Given the description of an element on the screen output the (x, y) to click on. 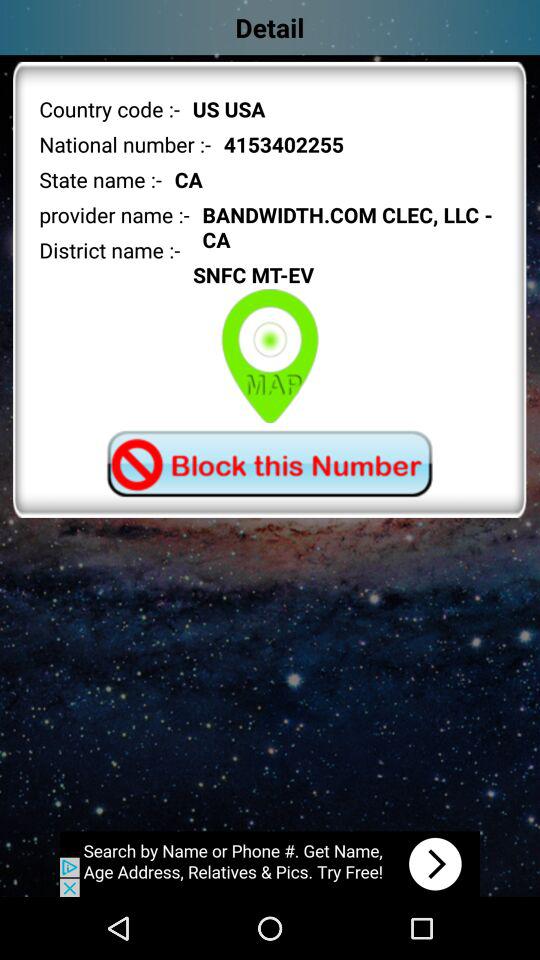
block number option (269, 463)
